Given the description of an element on the screen output the (x, y) to click on. 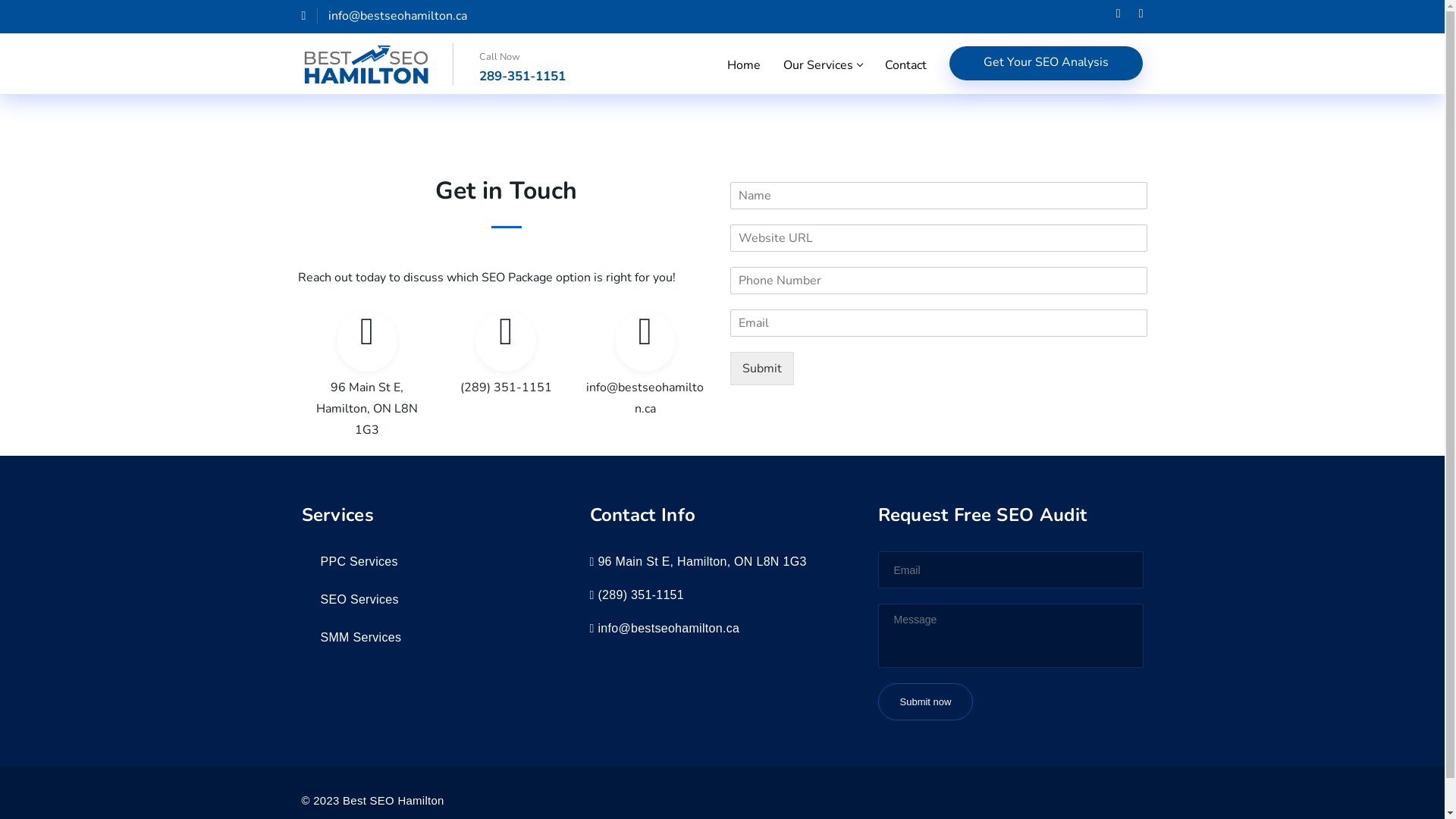
289-351-1151 Element type: text (522, 75)
info@bestseohamilton.ca Element type: text (384, 15)
Submit Element type: text (761, 368)
Our Services Element type: text (822, 65)
(289) 351-1151 Element type: text (640, 594)
SEO Services Element type: text (349, 599)
Submit now Element type: text (925, 701)
PPC Services Element type: text (349, 561)
Get Your SEO Analysis Element type: text (1045, 63)
info@bestseohamilton.ca Element type: text (644, 398)
Contact Element type: text (905, 65)
(289) 351-1151 Element type: text (505, 387)
SMM Services Element type: text (351, 636)
Home Element type: text (743, 65)
info@bestseohamilton.ca Element type: text (668, 627)
